Given the description of an element on the screen output the (x, y) to click on. 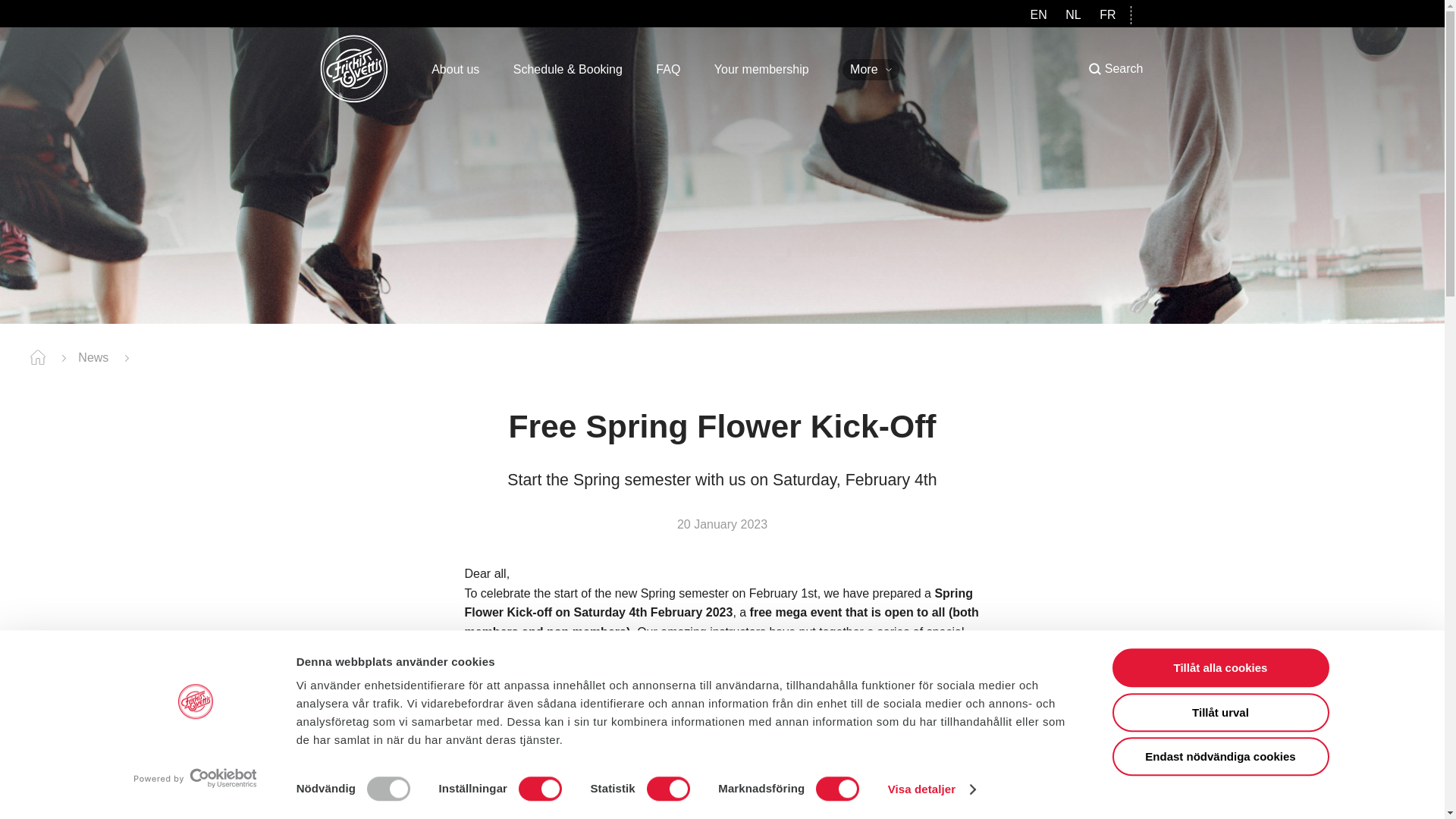
Visa detaljer (931, 789)
